Given the description of an element on the screen output the (x, y) to click on. 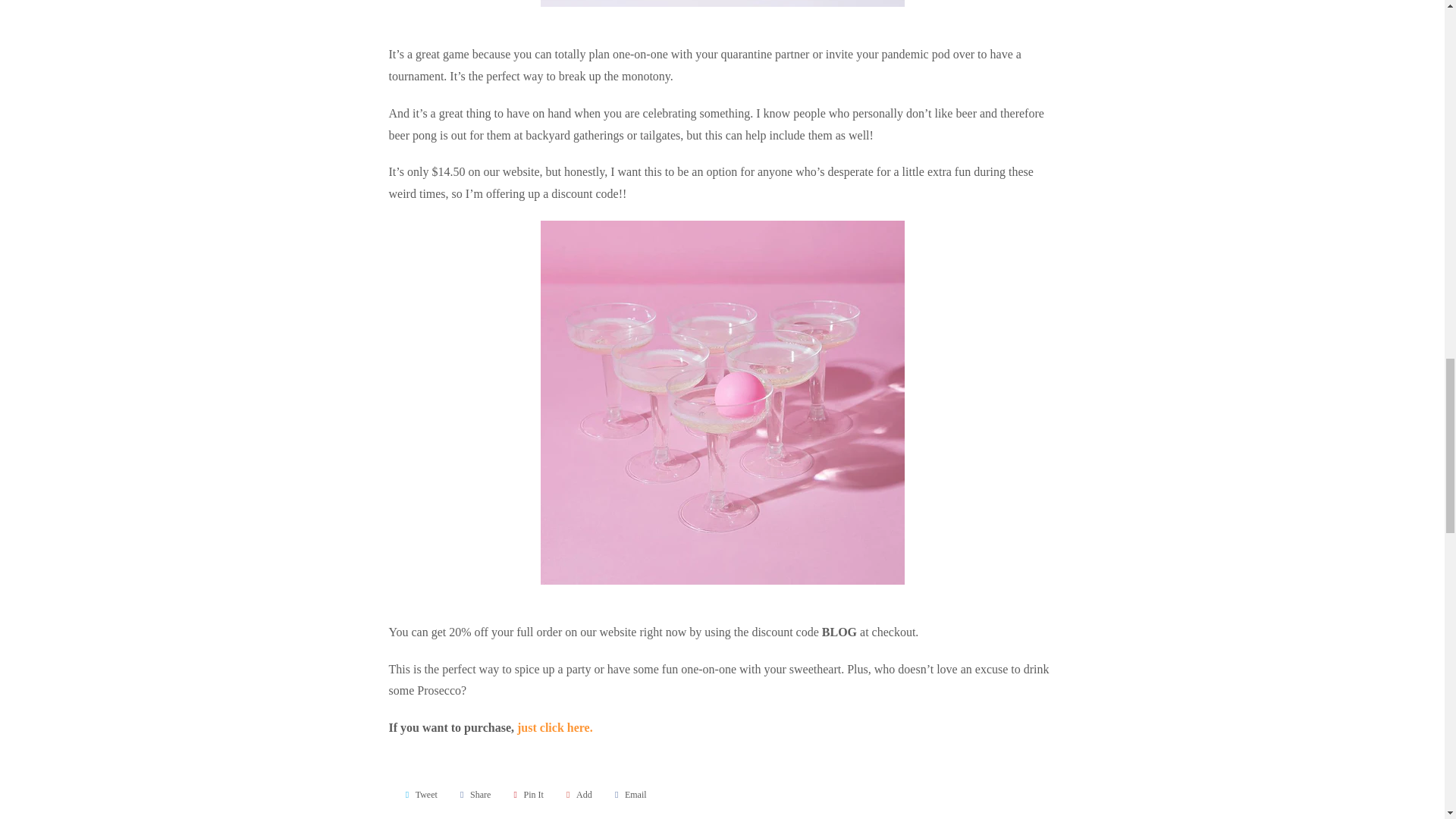
Pin It (525, 794)
Share this on Pinterest (525, 794)
Share this on Twitter (418, 794)
Tweet (418, 794)
Email this to a friend (627, 794)
Email (627, 794)
Share this on Facebook (473, 794)
Share (473, 794)
just click here. (554, 727)
Add (576, 794)
